Given the description of an element on the screen output the (x, y) to click on. 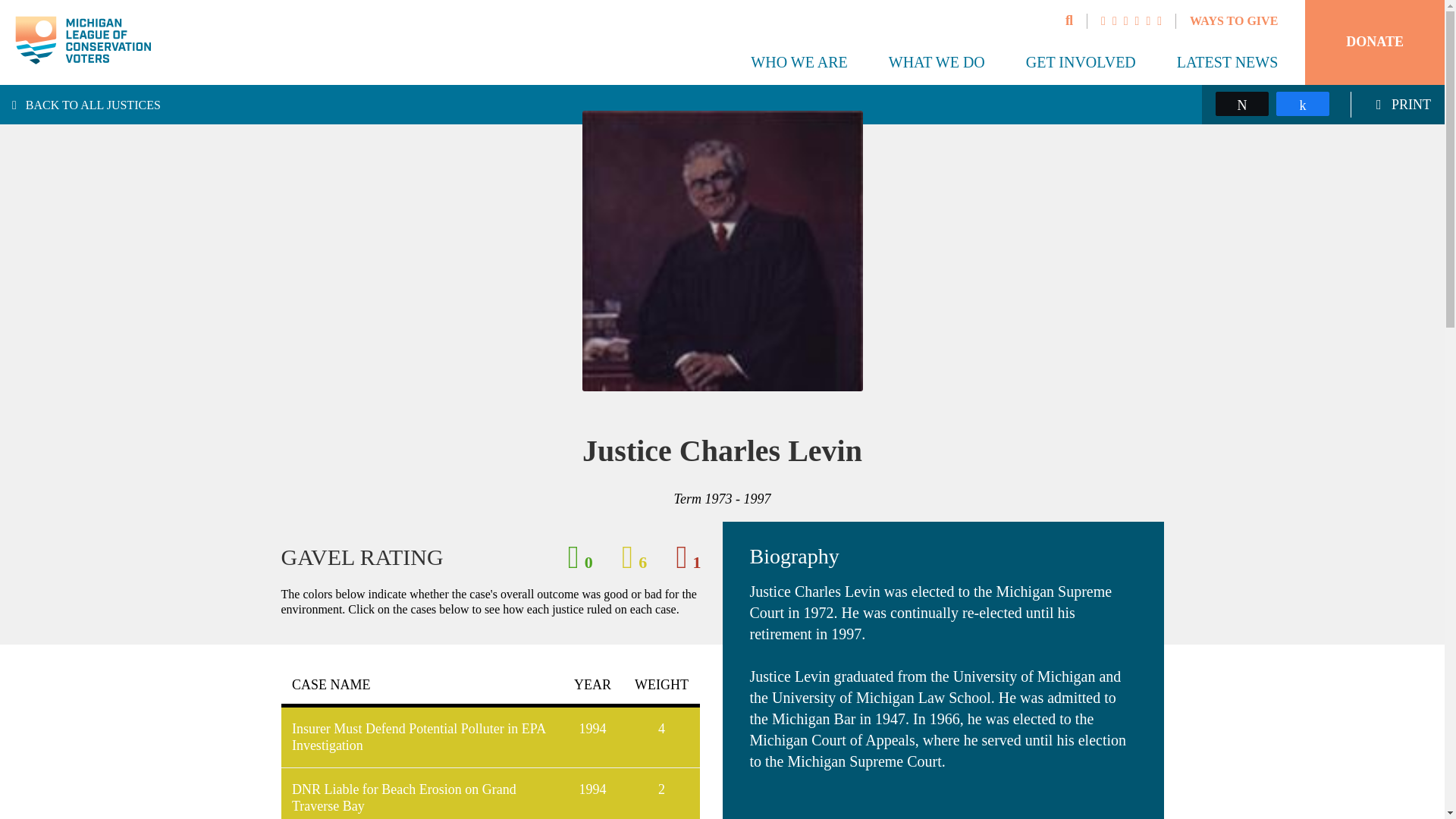
WAYS TO GIVE (1233, 20)
LATEST NEWS (1227, 62)
WHAT WE DO (936, 62)
WHO WE ARE (799, 62)
GET INVOLVED (1080, 62)
